Given the description of an element on the screen output the (x, y) to click on. 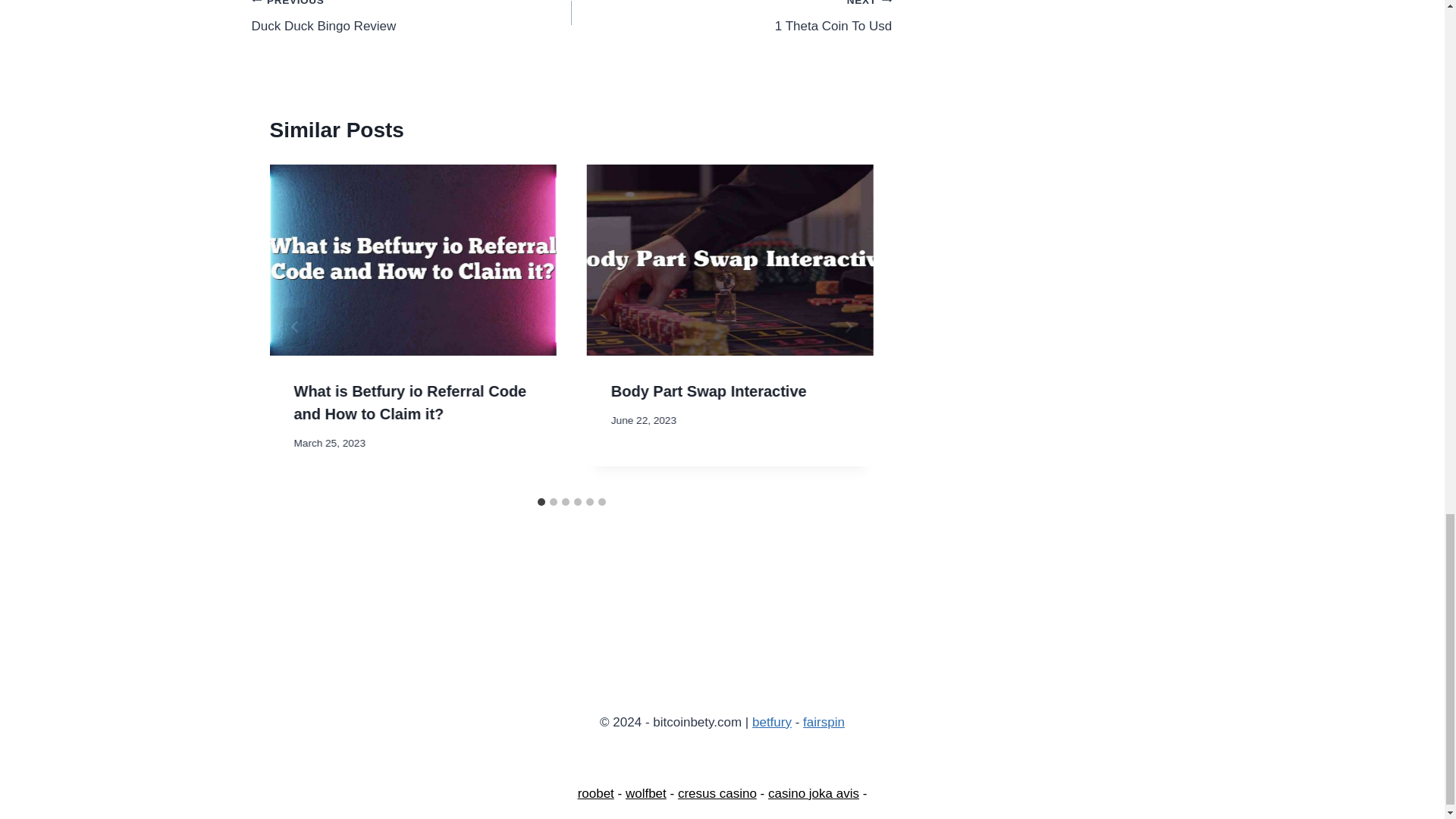
What is Betfury io Referral Code and How to Claim it? (410, 402)
Body Part Swap Interactive (708, 391)
